Given the description of an element on the screen output the (x, y) to click on. 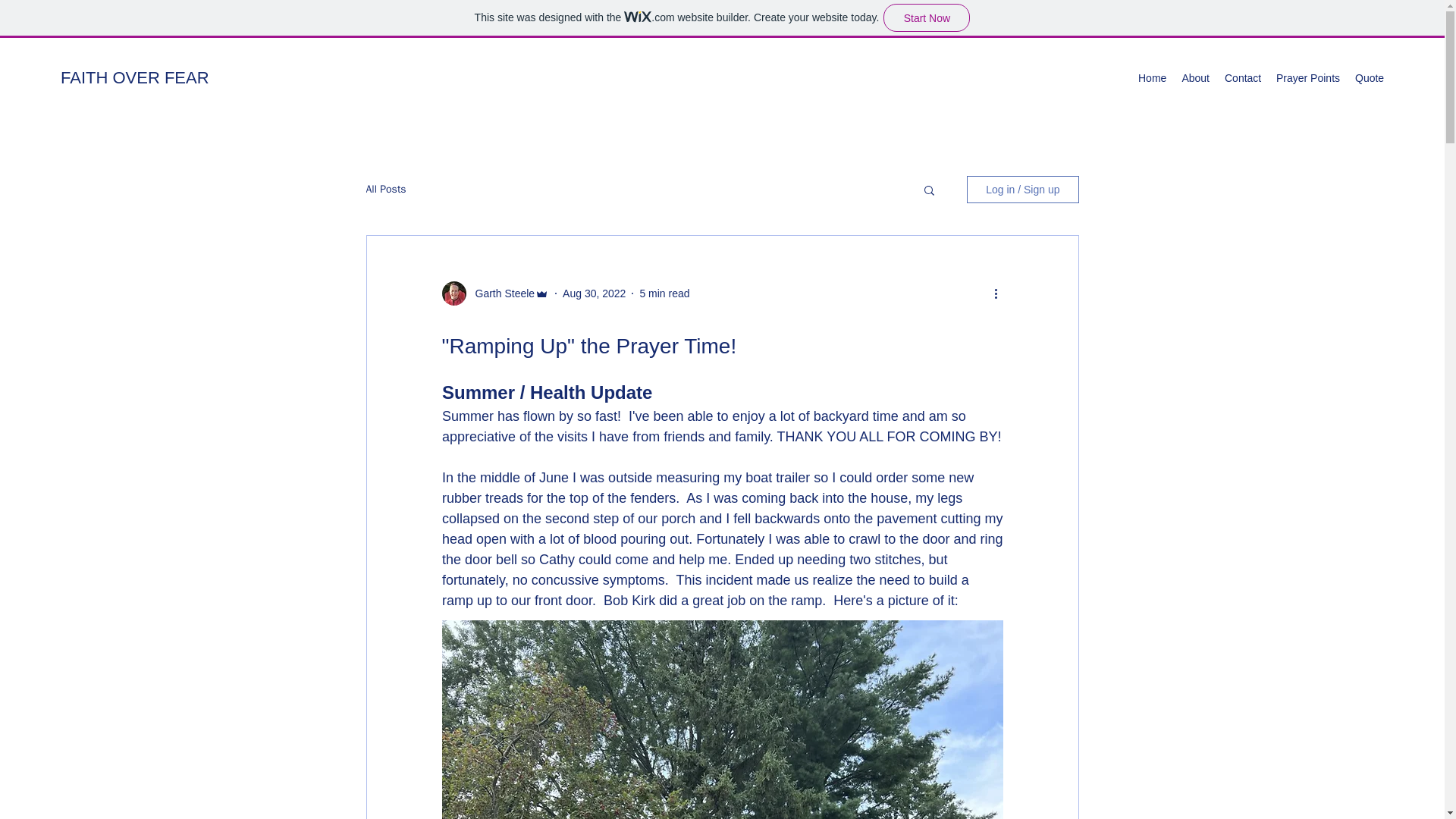
Garth Steele (499, 293)
Home (1152, 77)
5 min read (663, 292)
Aug 30, 2022 (594, 292)
Contact (1242, 77)
All Posts (385, 189)
Quote (1369, 77)
Prayer Points (1308, 77)
FAITH OVER FEAR (135, 76)
About (1195, 77)
